Given the description of an element on the screen output the (x, y) to click on. 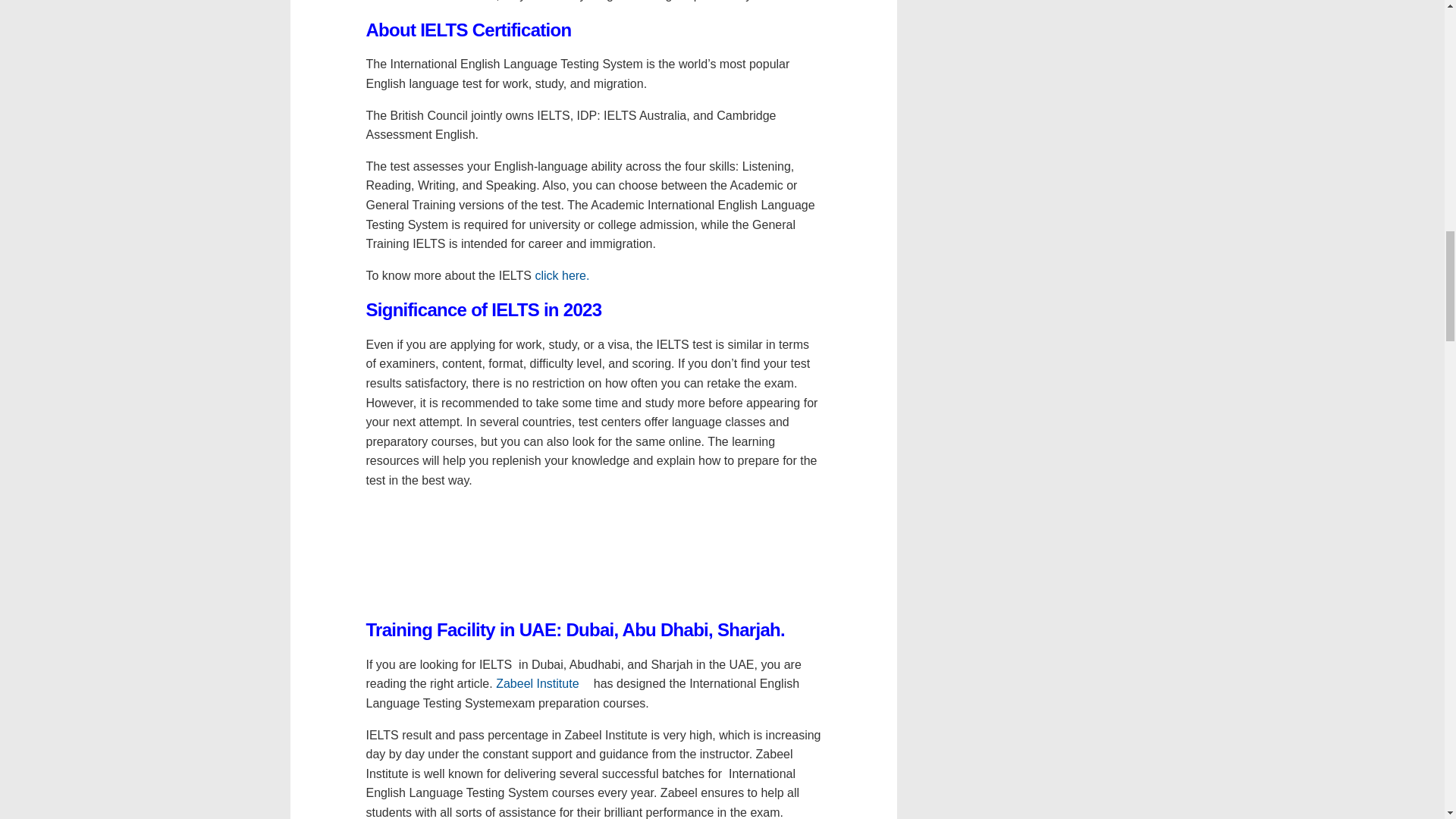
click here. (566, 275)
Zabeel Institute (542, 683)
Zabeel Institute (542, 683)
